Given the description of an element on the screen output the (x, y) to click on. 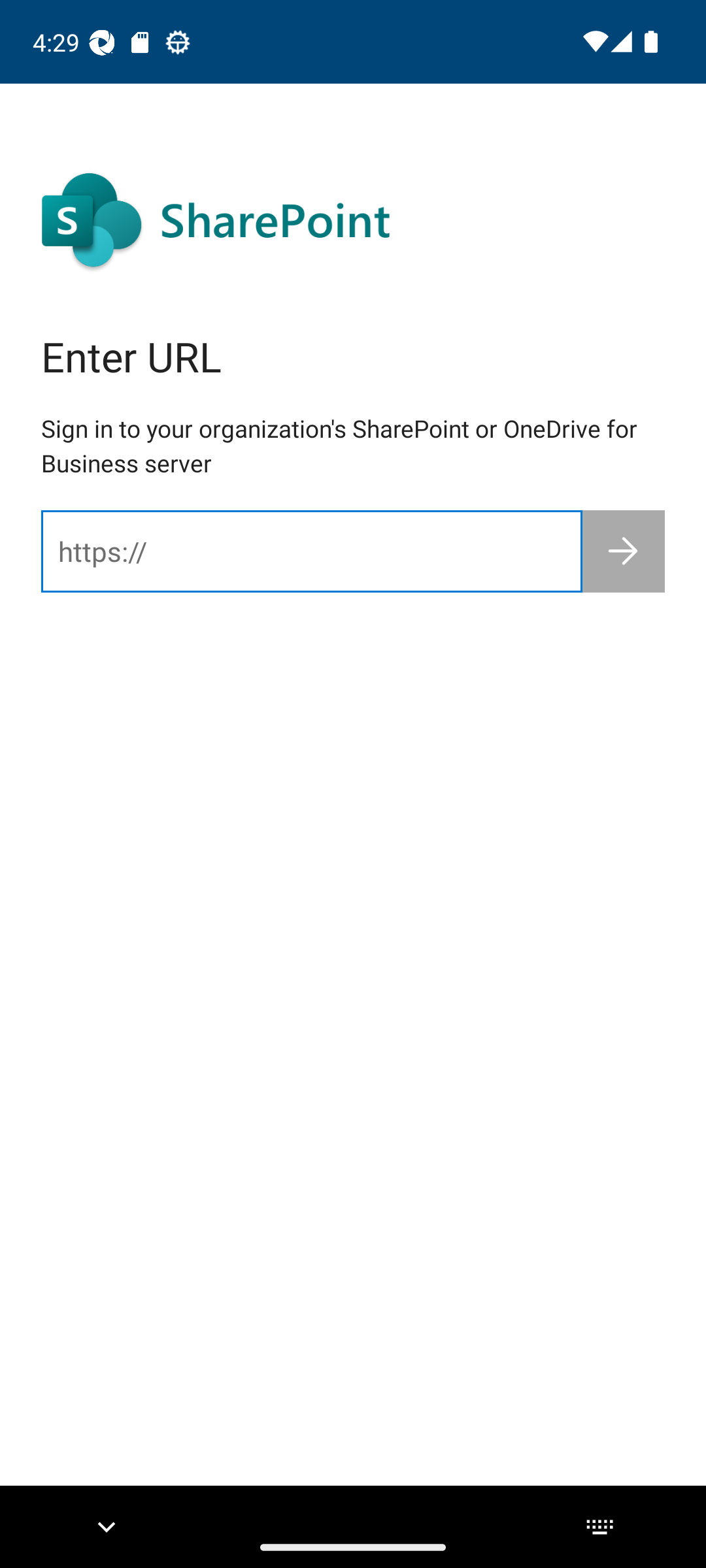
https:// (311, 550)
Next (623, 550)
